Given the description of an element on the screen output the (x, y) to click on. 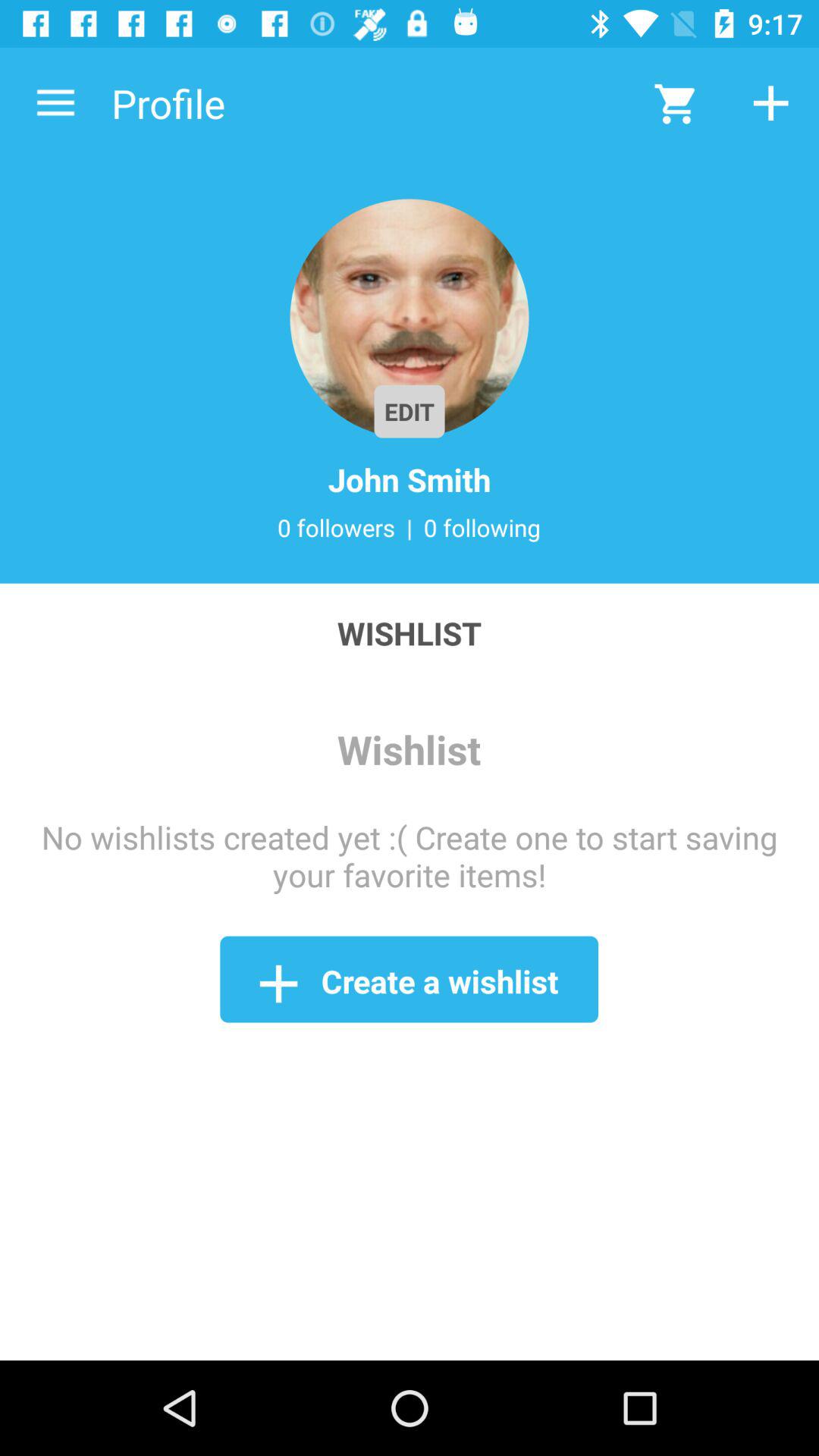
click the icon to the left of the profile (55, 103)
